Given the description of an element on the screen output the (x, y) to click on. 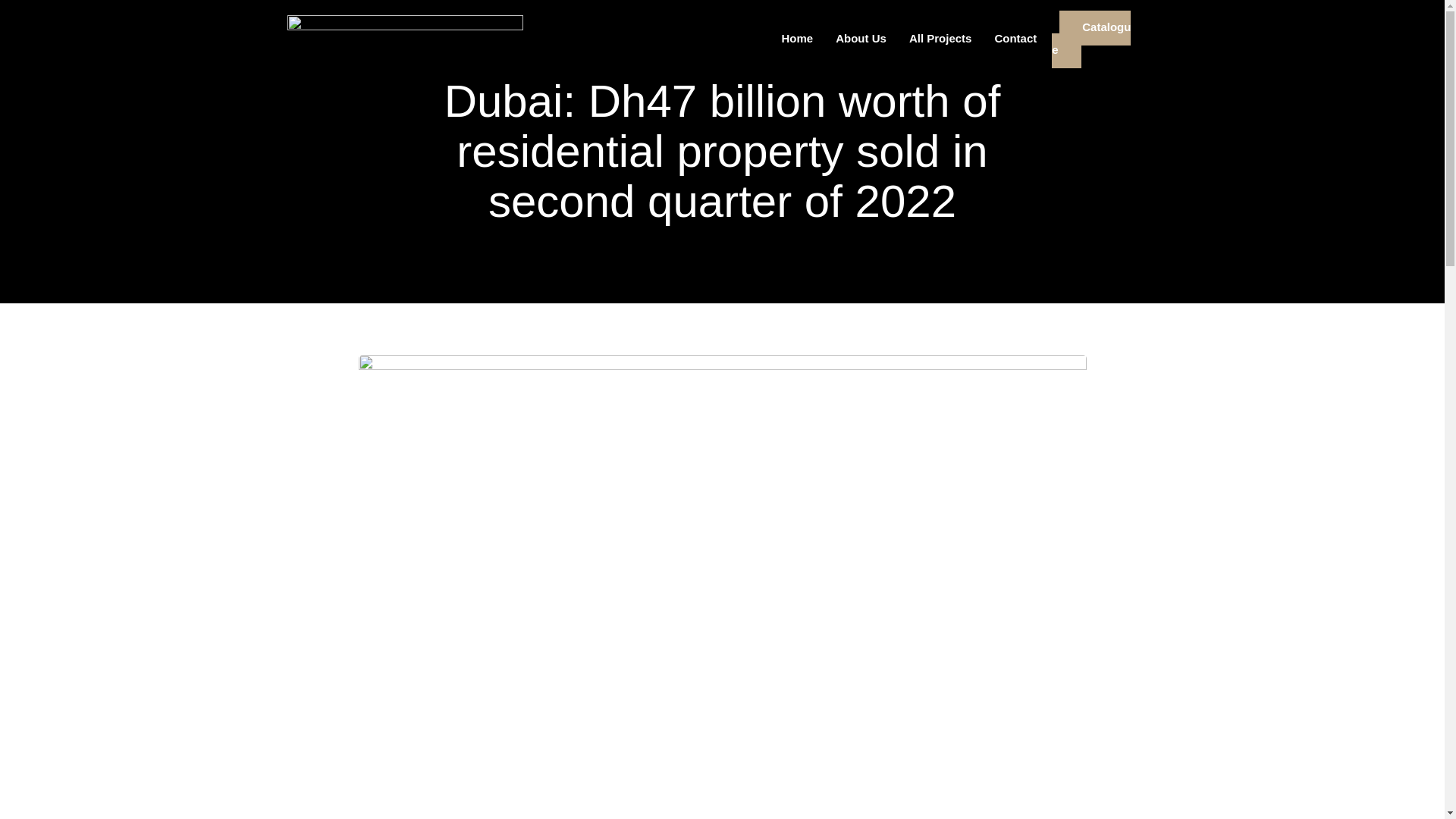
Catalogue (1091, 38)
